Given the description of an element on the screen output the (x, y) to click on. 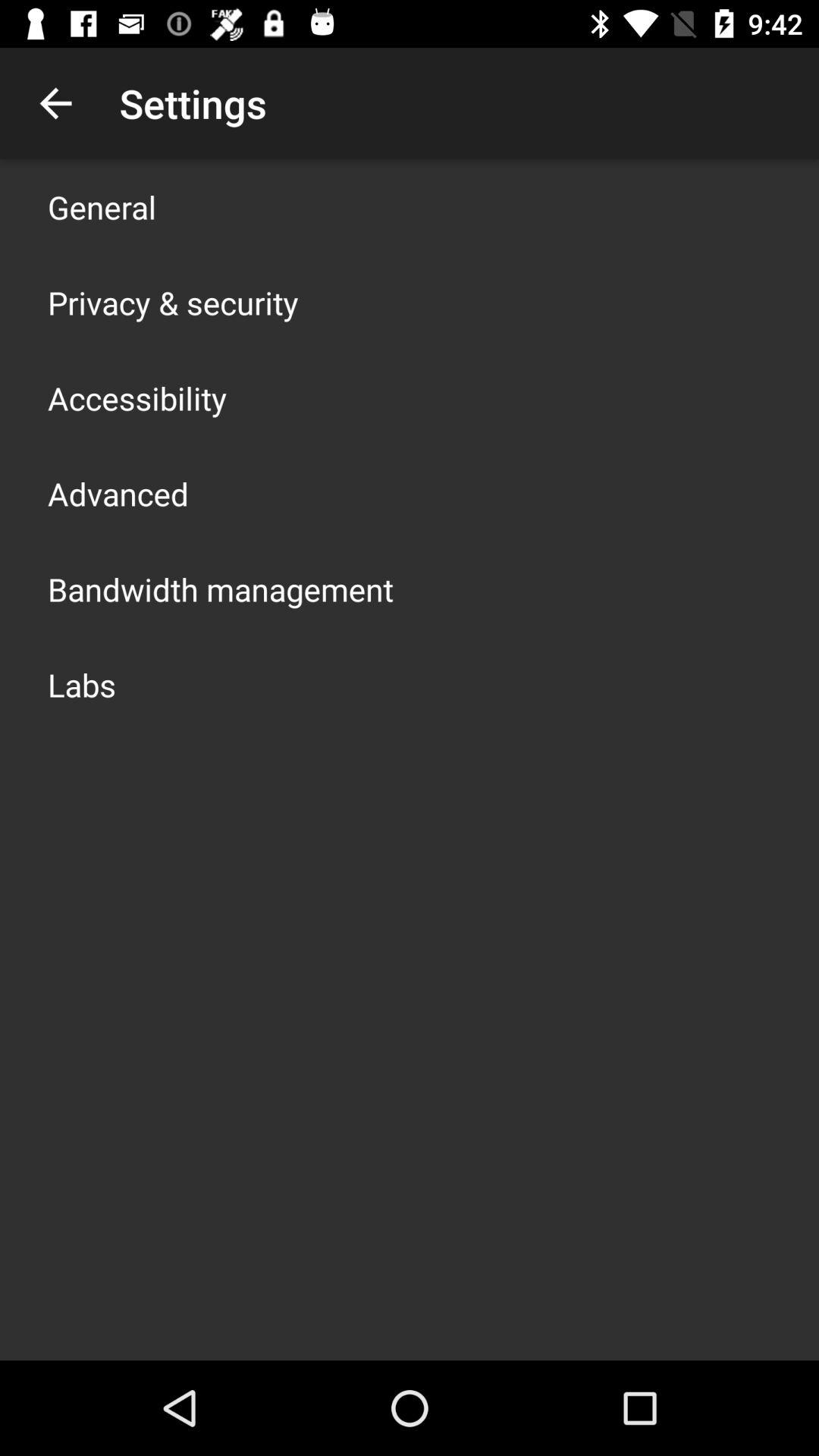
tap the item above labs icon (220, 588)
